Given the description of an element on the screen output the (x, y) to click on. 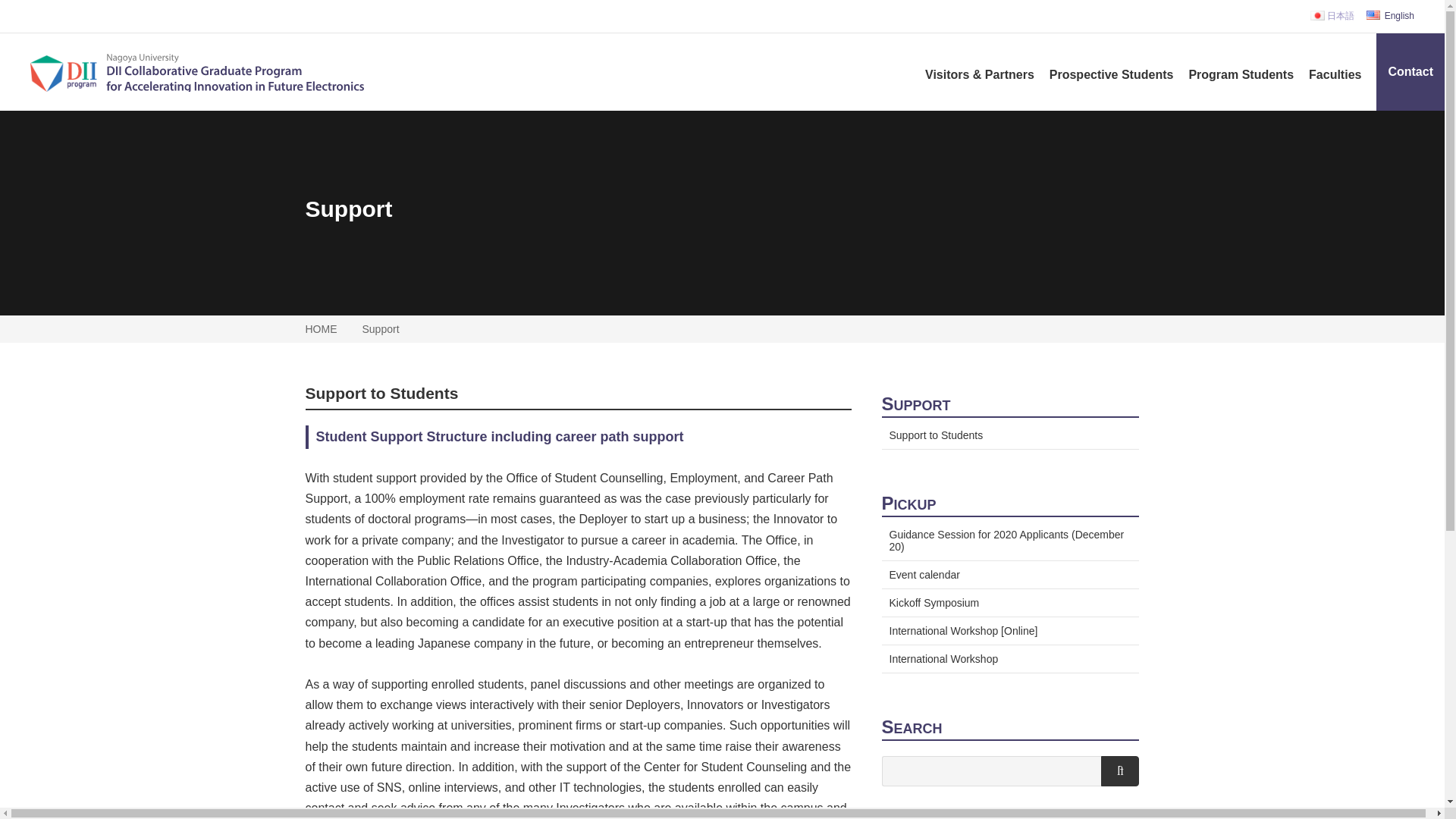
HOME (320, 328)
English (1390, 15)
Prospective Students (1111, 59)
Faculties (1334, 59)
Support to Students (381, 393)
Support (380, 328)
Program Students (1241, 59)
Support to Students (1009, 433)
